Given the description of an element on the screen output the (x, y) to click on. 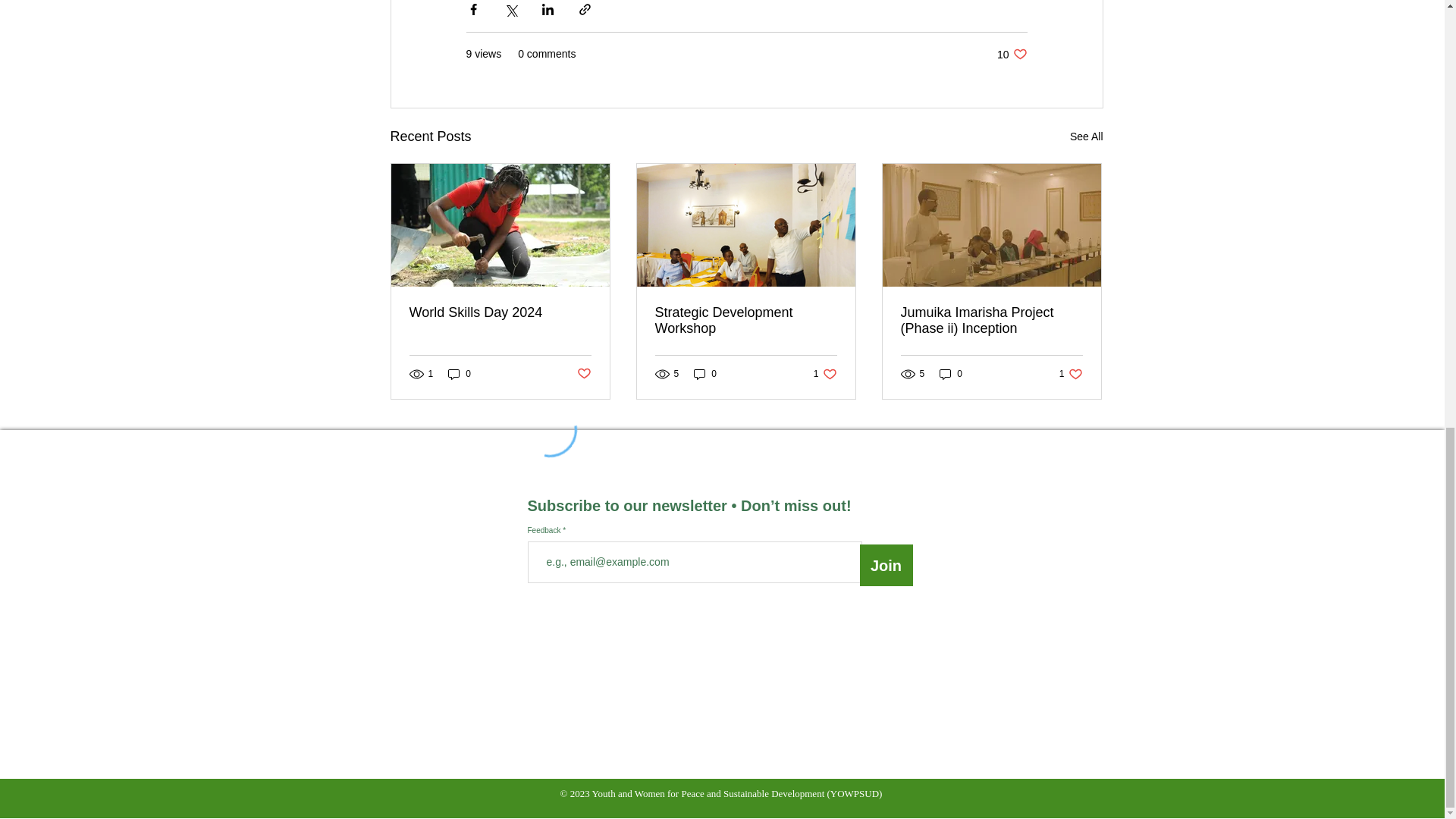
0 (950, 373)
Post not marked as liked (825, 373)
World Skills Day 2024 (1012, 53)
0 (583, 374)
Strategic Development Workshop (500, 312)
See All (458, 373)
0 (746, 320)
Join (1086, 137)
